Given the description of an element on the screen output the (x, y) to click on. 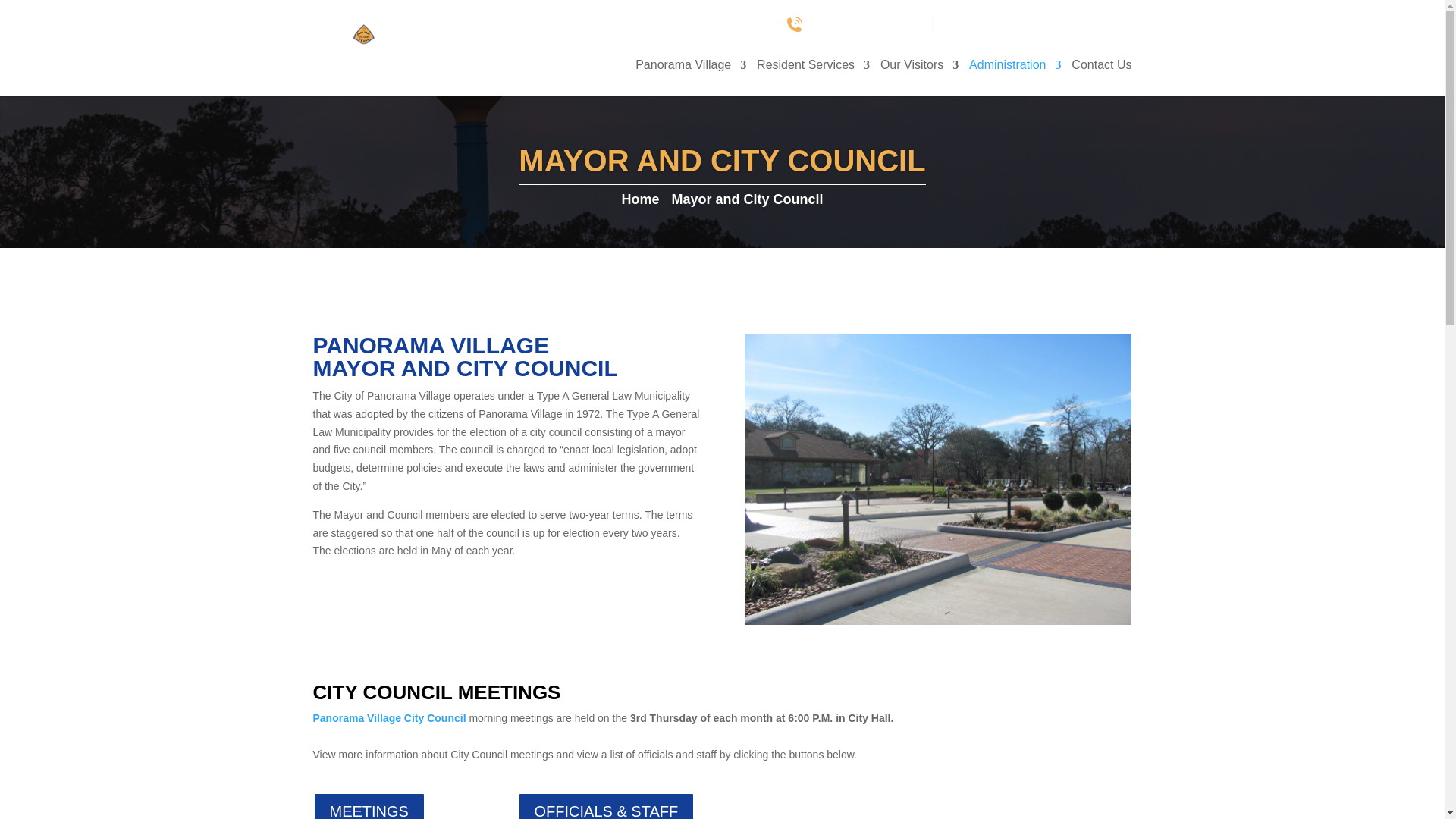
Go to City of Panorama Village. (643, 199)
Contact Us (1101, 76)
Our Visitors (919, 76)
Resident Services (813, 76)
Panorama Village (689, 76)
Administration (1015, 76)
